Given the description of an element on the screen output the (x, y) to click on. 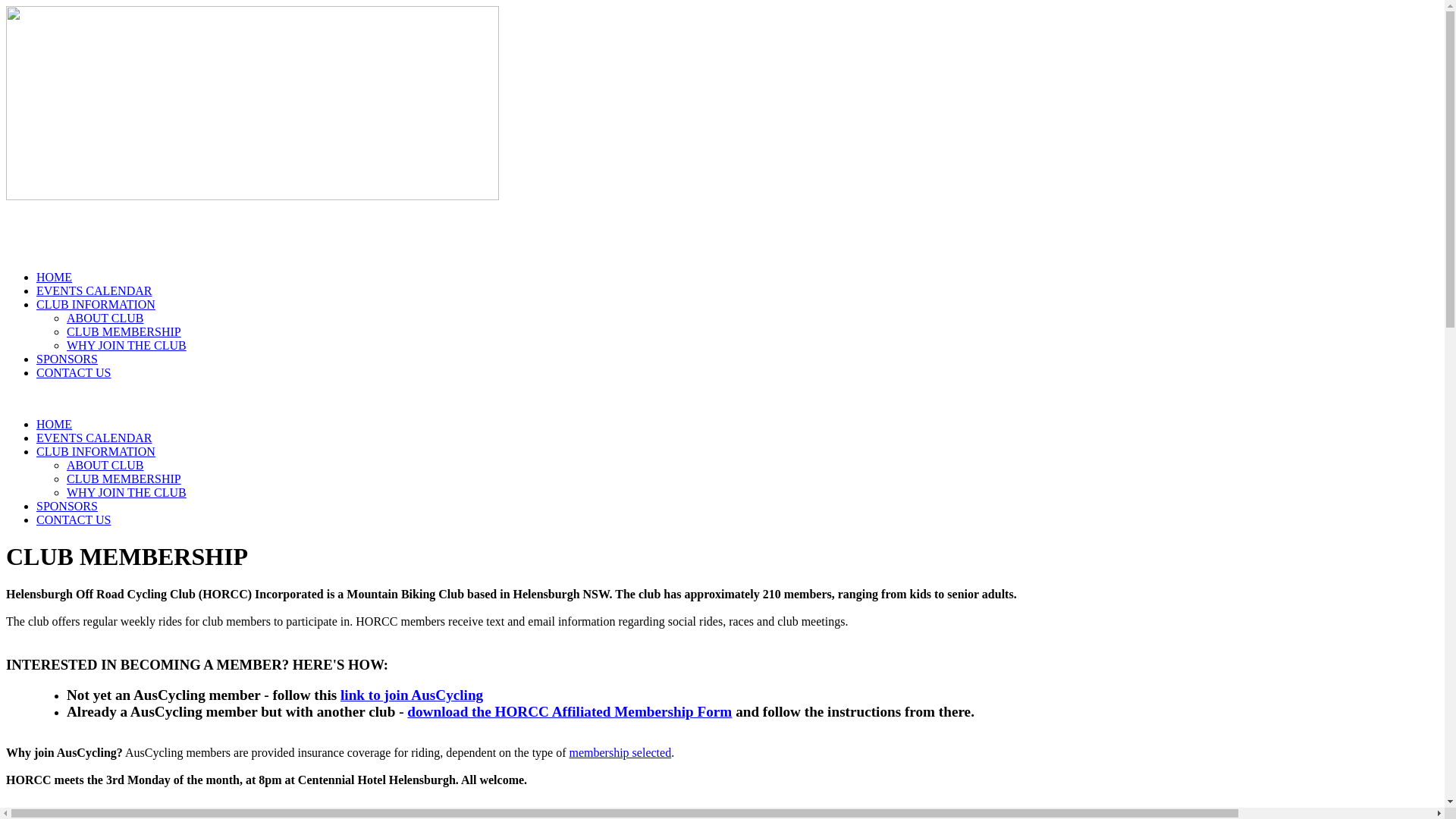
link to join AusCycling Element type: text (411, 694)
CONTACT US Element type: text (73, 519)
ABOUT CLUB Element type: text (105, 317)
CLUB MEMBERSHIP Element type: text (123, 331)
EVENTS CALENDAR Element type: text (93, 437)
SPONSORS Element type: text (66, 505)
WHY JOIN THE CLUB Element type: text (126, 344)
SPONSORS Element type: text (66, 358)
download the HORCC Affiliated Membership Form Element type: text (569, 711)
  Element type: text (9, 230)
HOME Element type: text (54, 276)
membership selected Element type: text (620, 752)
HOME Element type: text (54, 423)
  Element type: text (16, 234)
CONTACT US Element type: text (73, 372)
WHY JOIN THE CLUB Element type: text (126, 492)
CLUB INFORMATION Element type: text (95, 451)
CLUB MEMBERSHIP Element type: text (123, 478)
CLUB INFORMATION Element type: text (95, 304)
EVENTS CALENDAR Element type: text (93, 290)
ABOUT CLUB Element type: text (105, 464)
